Given the description of an element on the screen output the (x, y) to click on. 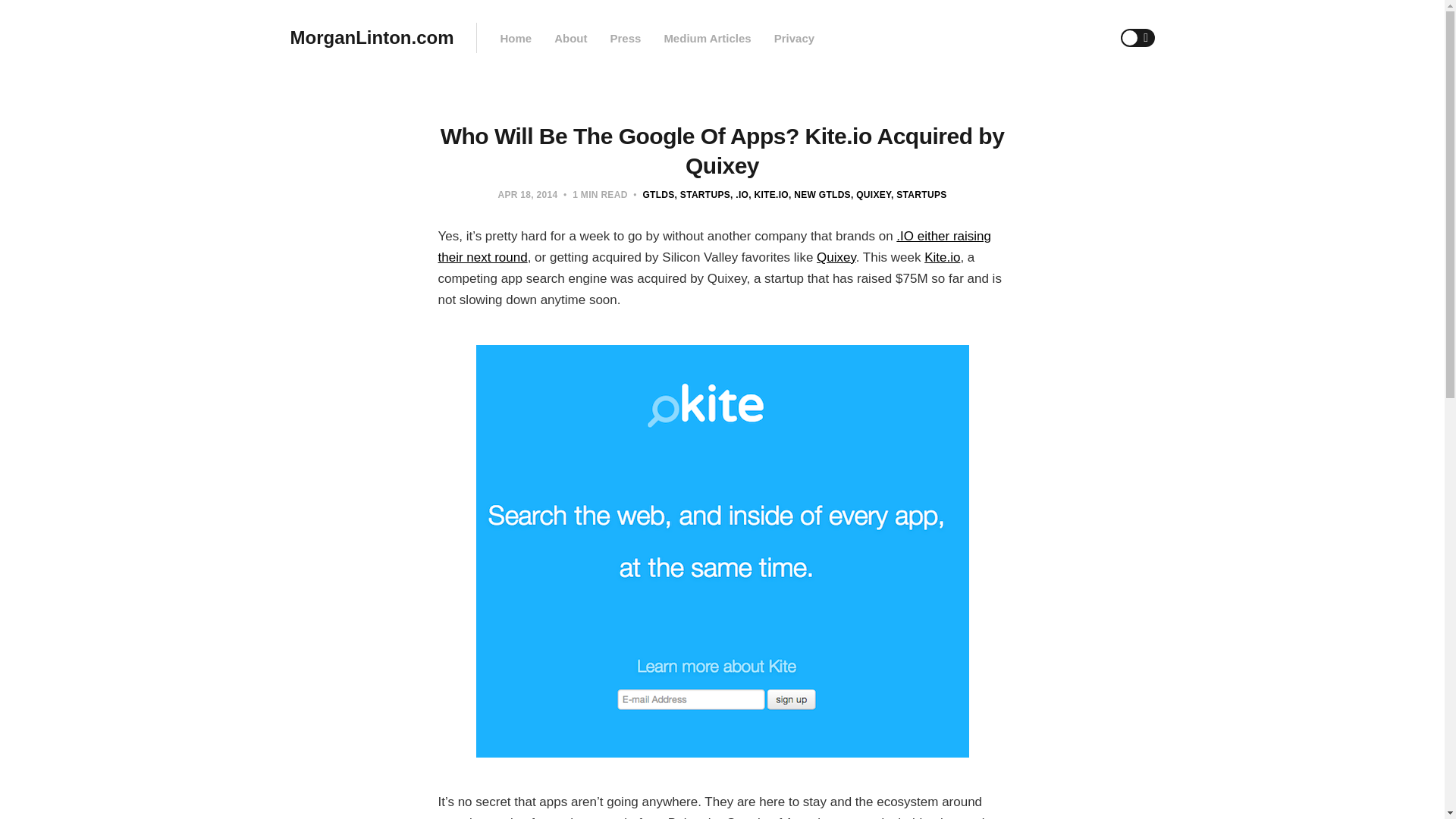
.io (739, 194)
About (570, 38)
.IO either raising their next round (714, 246)
Home (515, 38)
Press (625, 38)
.IO (739, 194)
new gTLDs (819, 194)
QUIXEY (870, 194)
quixey (870, 194)
kite.io (768, 194)
GTLDS (658, 194)
Privacy (793, 38)
Quixey (836, 257)
gTLDs (658, 194)
MorganLinton.com (370, 37)
